Given the description of an element on the screen output the (x, y) to click on. 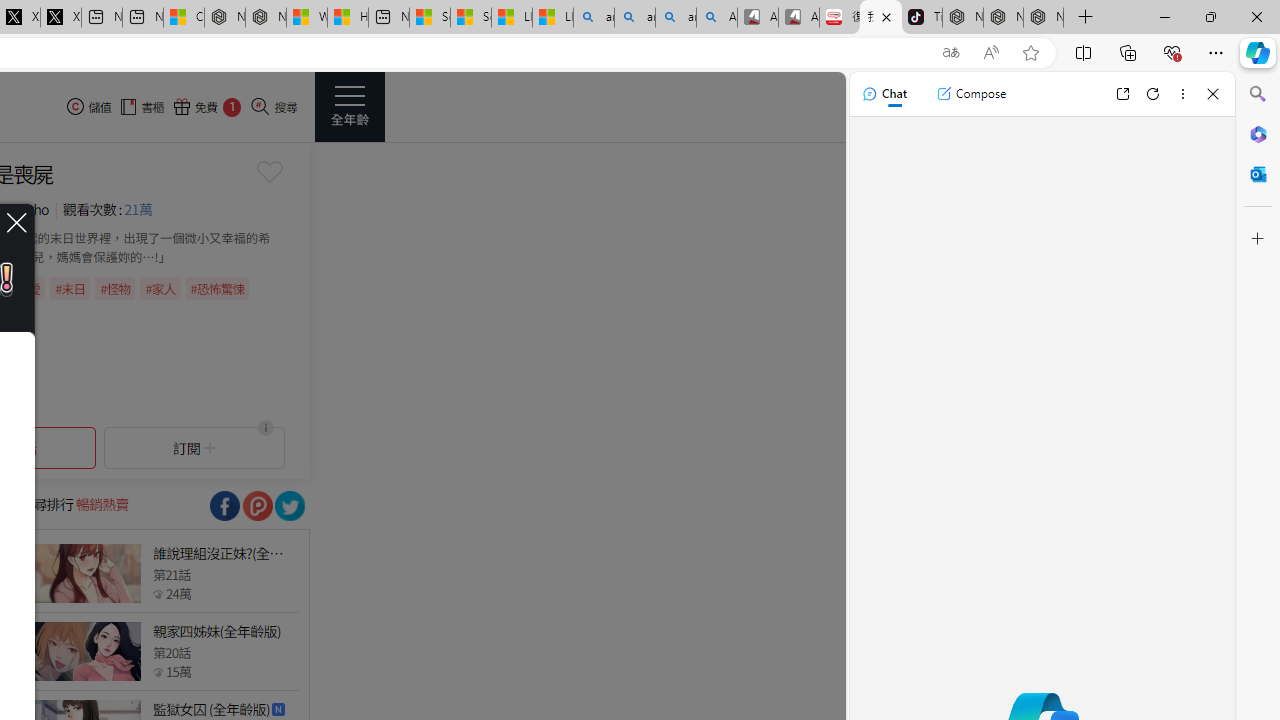
Nordace Siena Pro 15 Backpack (1003, 17)
Show translate options (950, 53)
Compose (971, 93)
